Given the description of an element on the screen output the (x, y) to click on. 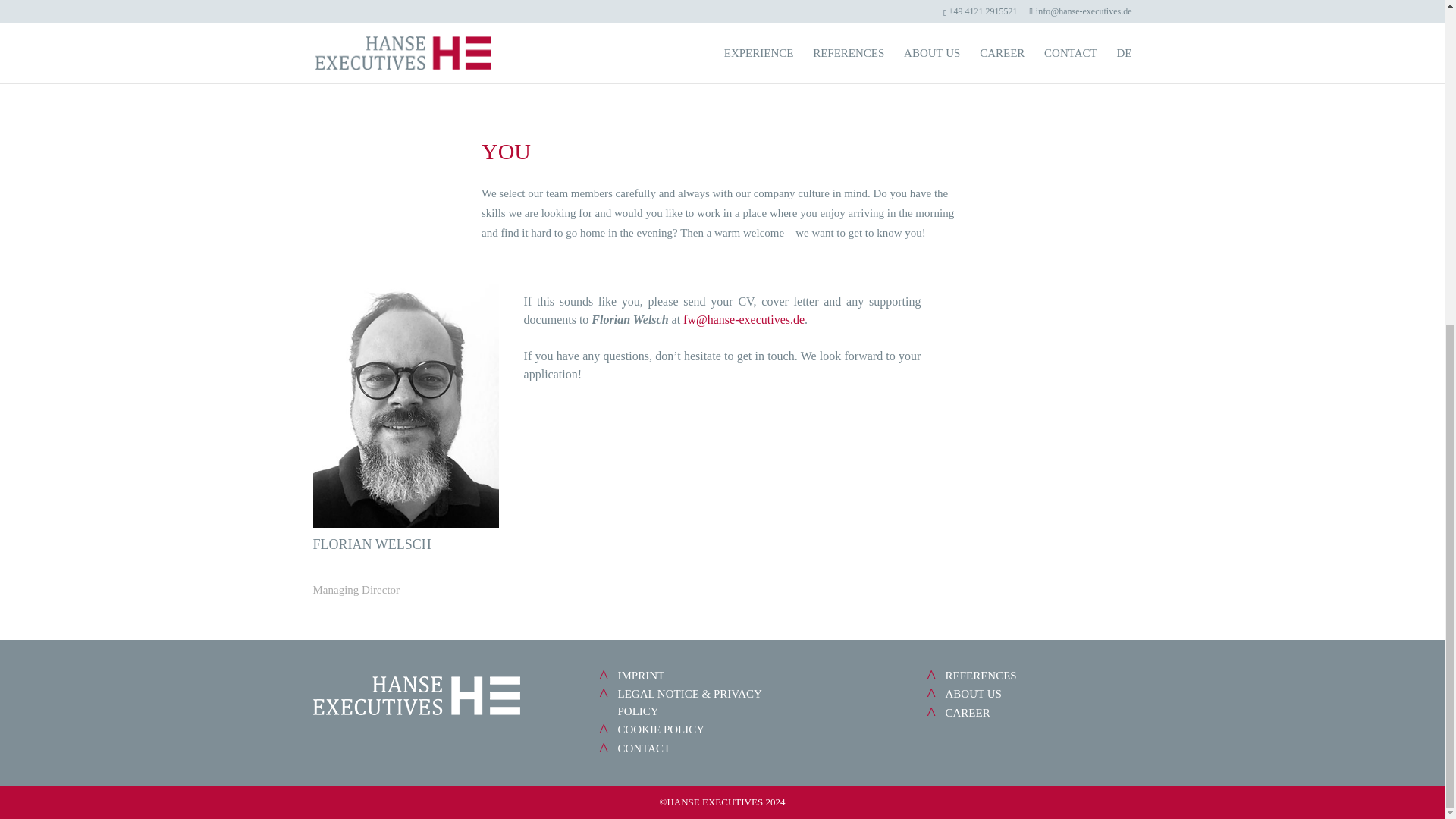
ABOUT US (972, 693)
IMPRINT (640, 675)
CAREER (967, 712)
REFERENCES (980, 675)
CONTACT (643, 748)
COOKIE POLICY (660, 729)
